Given the description of an element on the screen output the (x, y) to click on. 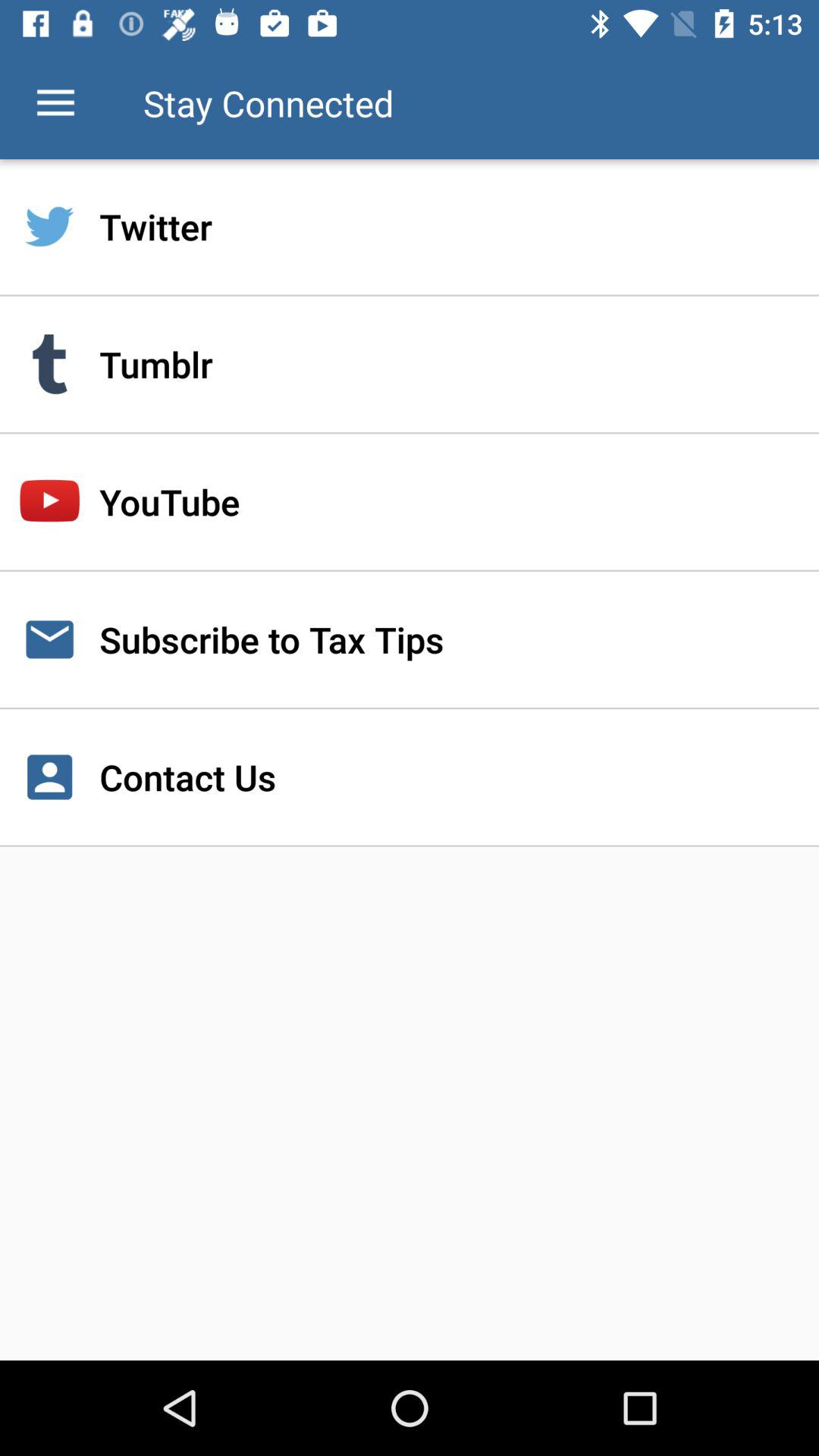
launch the tumblr (409, 364)
